Given the description of an element on the screen output the (x, y) to click on. 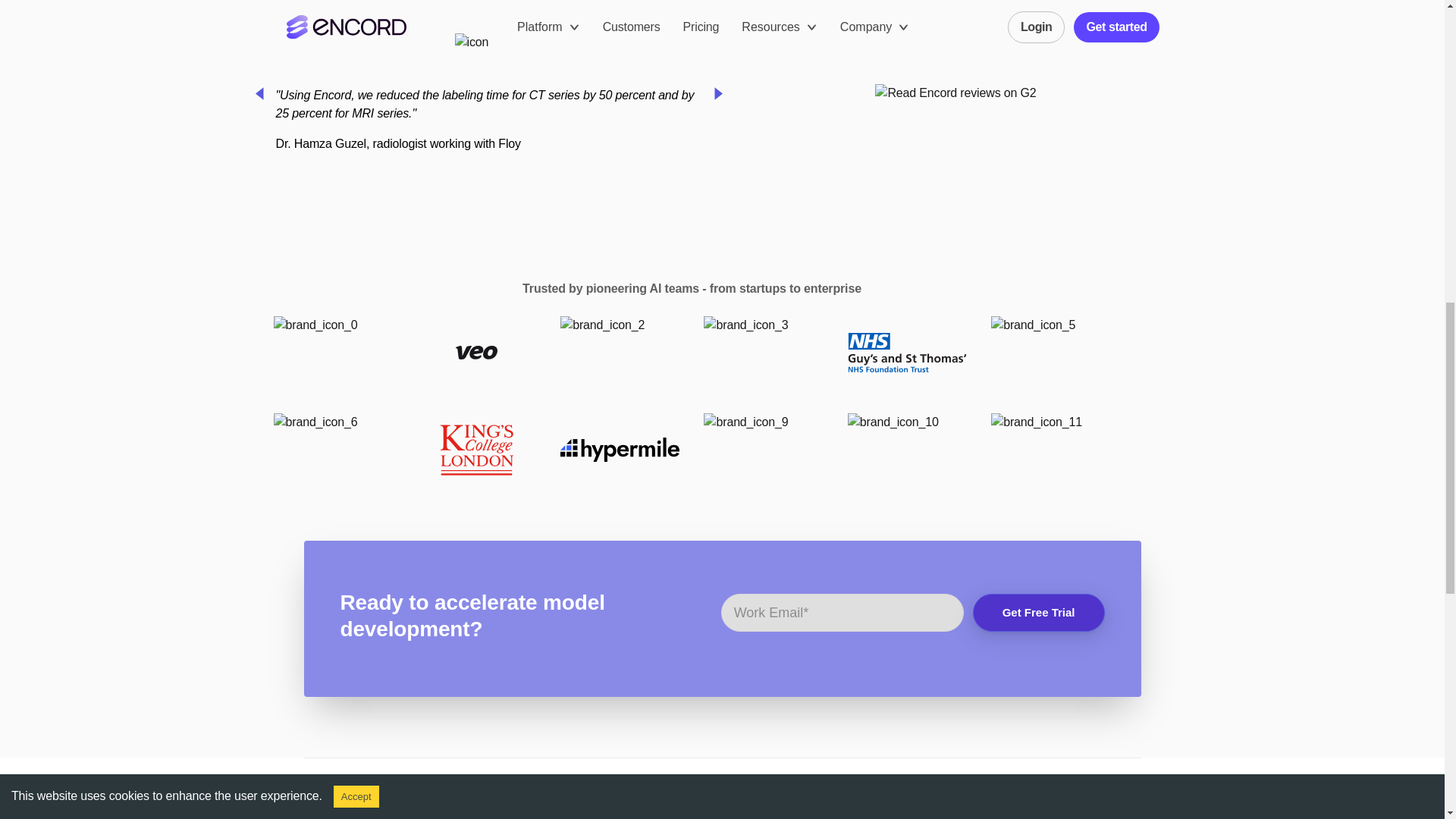
Get Free Trial (1038, 612)
Read reviews of Encord on G2 (956, 93)
